Given the description of an element on the screen output the (x, y) to click on. 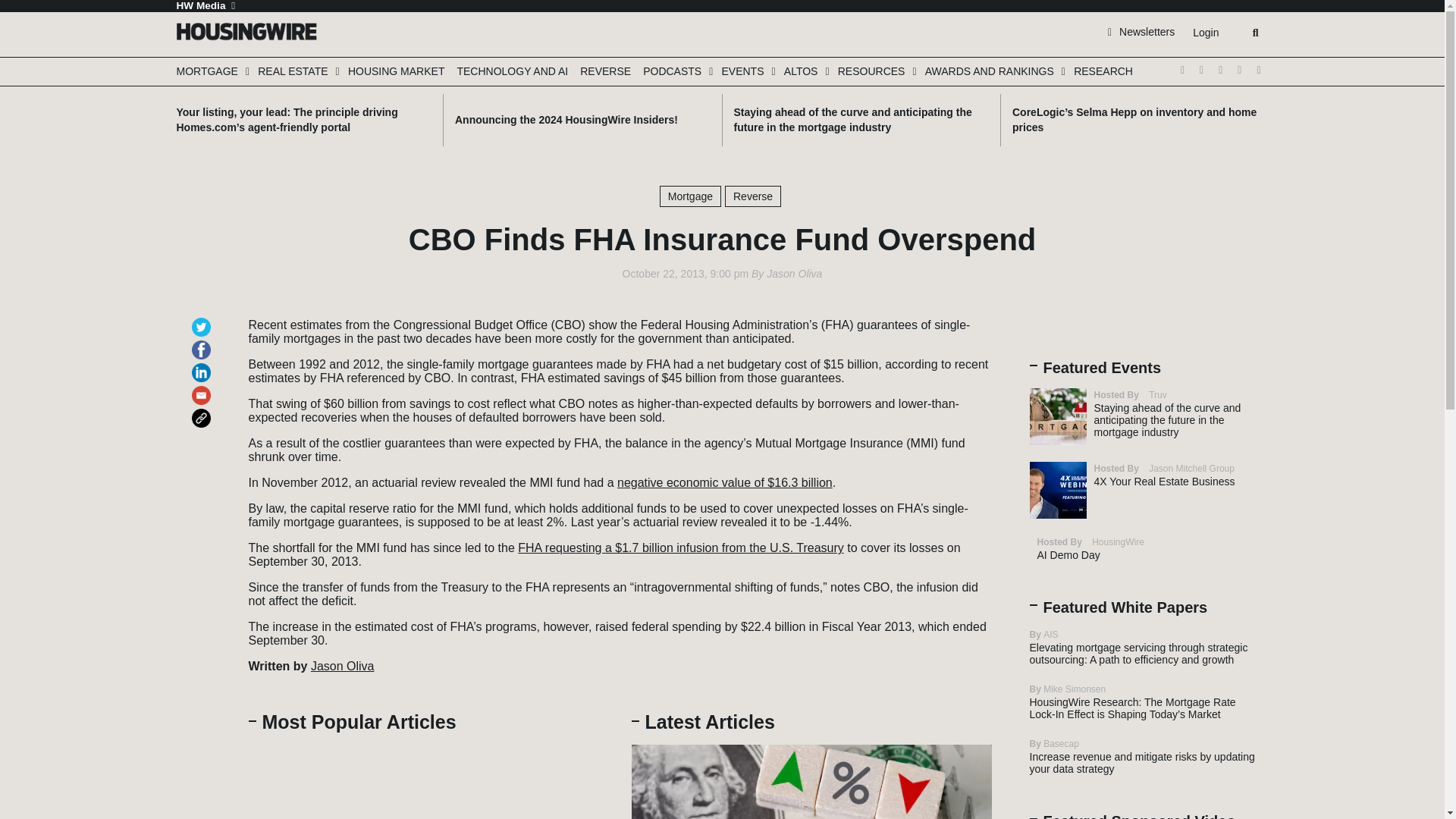
Click to share on Facebook (203, 342)
Click to share on LinkedIn (203, 365)
Newsletters (1141, 31)
Click to email a link to a friend (203, 388)
Login (1205, 32)
Click to copy link (203, 411)
Click to share on Twitter (203, 319)
Posts by Jason Oliva (794, 273)
